Given the description of an element on the screen output the (x, y) to click on. 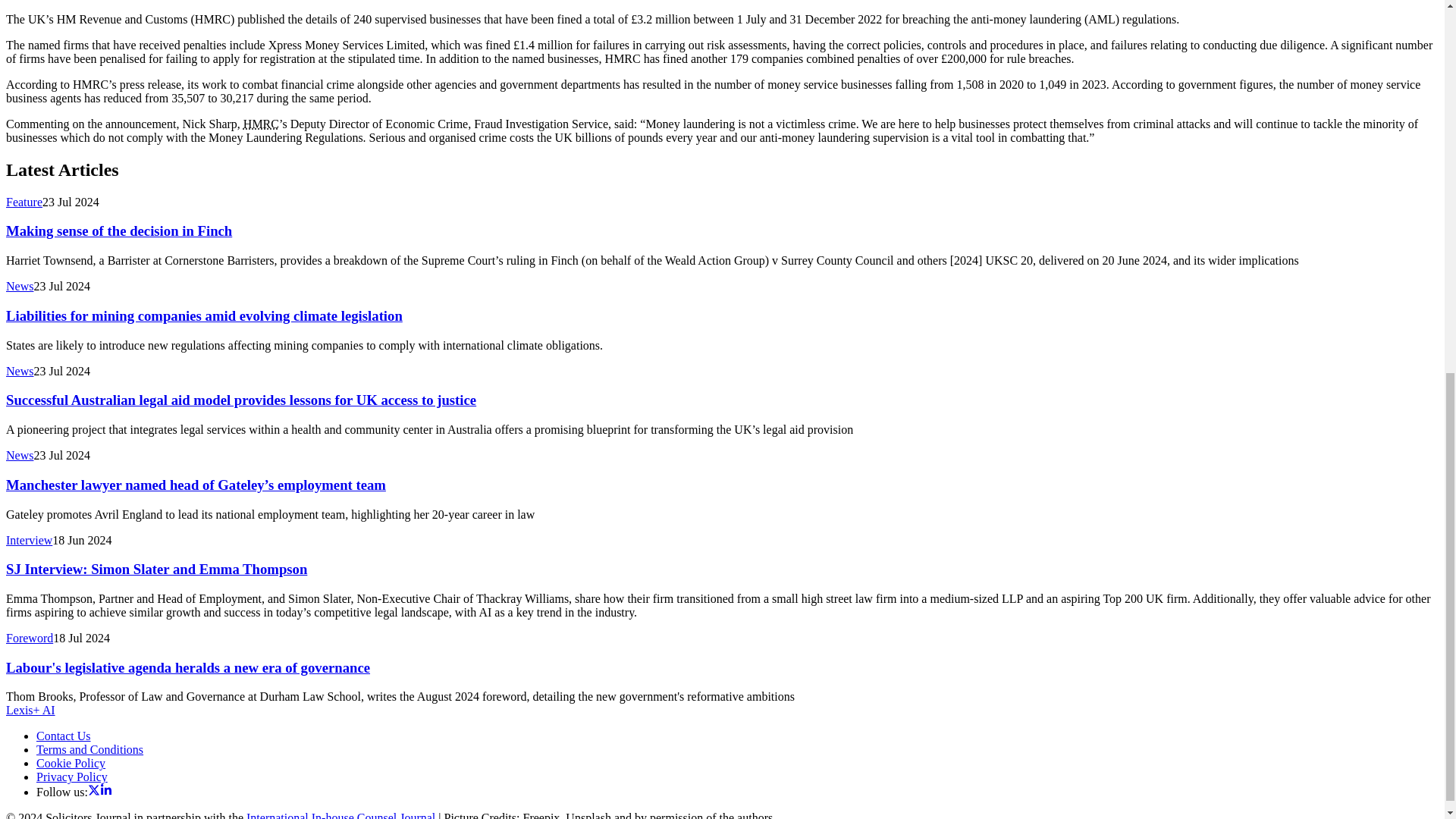
News (19, 286)
Making sense of the decision in Finch (118, 230)
Feature (23, 201)
HM Revenue and Customs (261, 123)
